Given the description of an element on the screen output the (x, y) to click on. 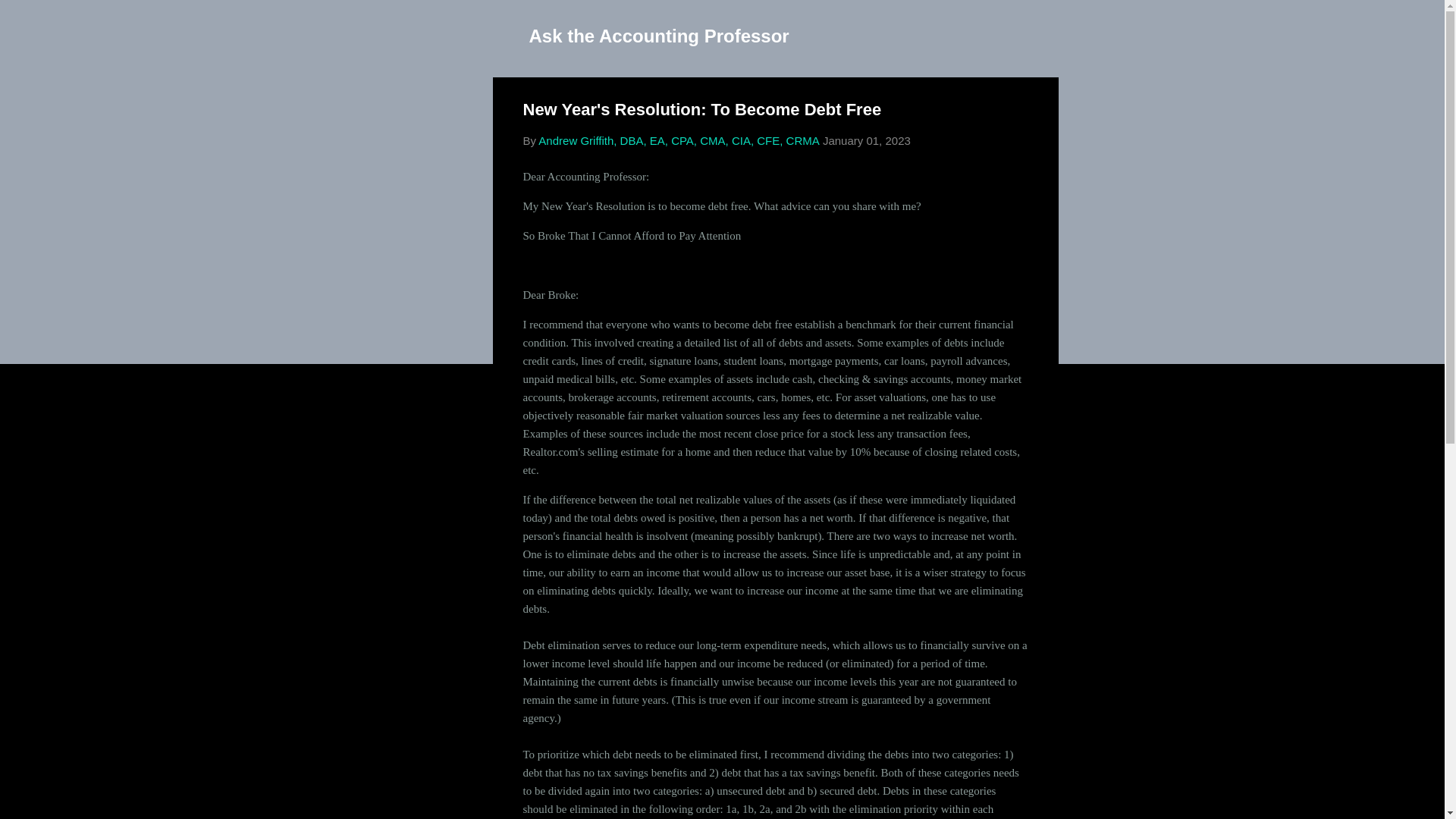
Andrew Griffith, DBA, EA, CPA, CMA, CIA, CFE, CRMA (678, 140)
Search (29, 18)
January 01, 2023 (866, 140)
Ask the Accounting Professor (659, 35)
author profile (678, 140)
permanent link (866, 140)
